Given the description of an element on the screen output the (x, y) to click on. 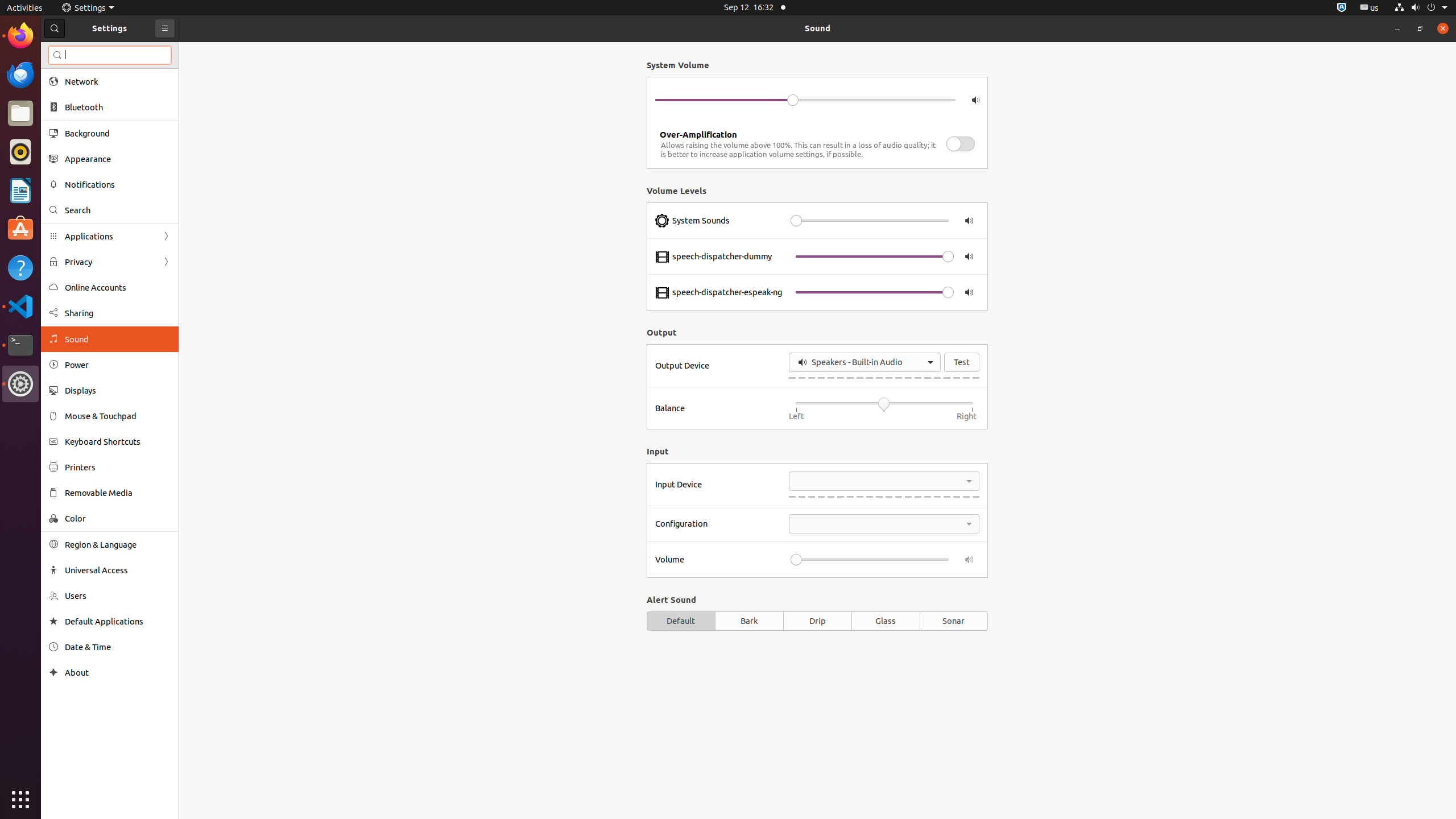
Privacy Element type: label (109, 261)
Date & Time Element type: label (117, 646)
Firefox Web Browser Element type: push-button (20, 35)
Notifications Element type: label (117, 184)
speech-dispatcher-dummy Element type: label (721, 256)
